Given the description of an element on the screen output the (x, y) to click on. 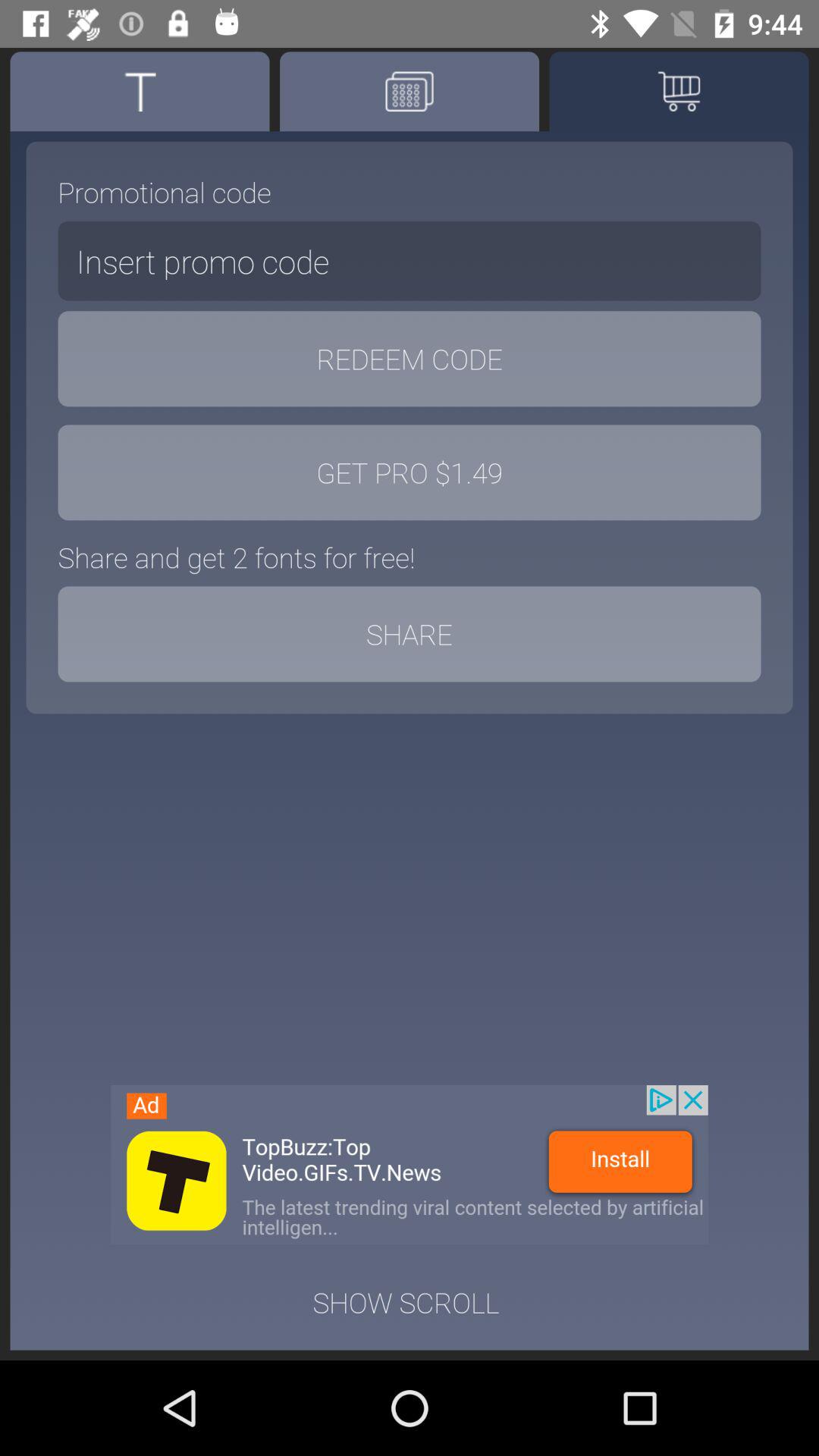
cart (678, 91)
